Given the description of an element on the screen output the (x, y) to click on. 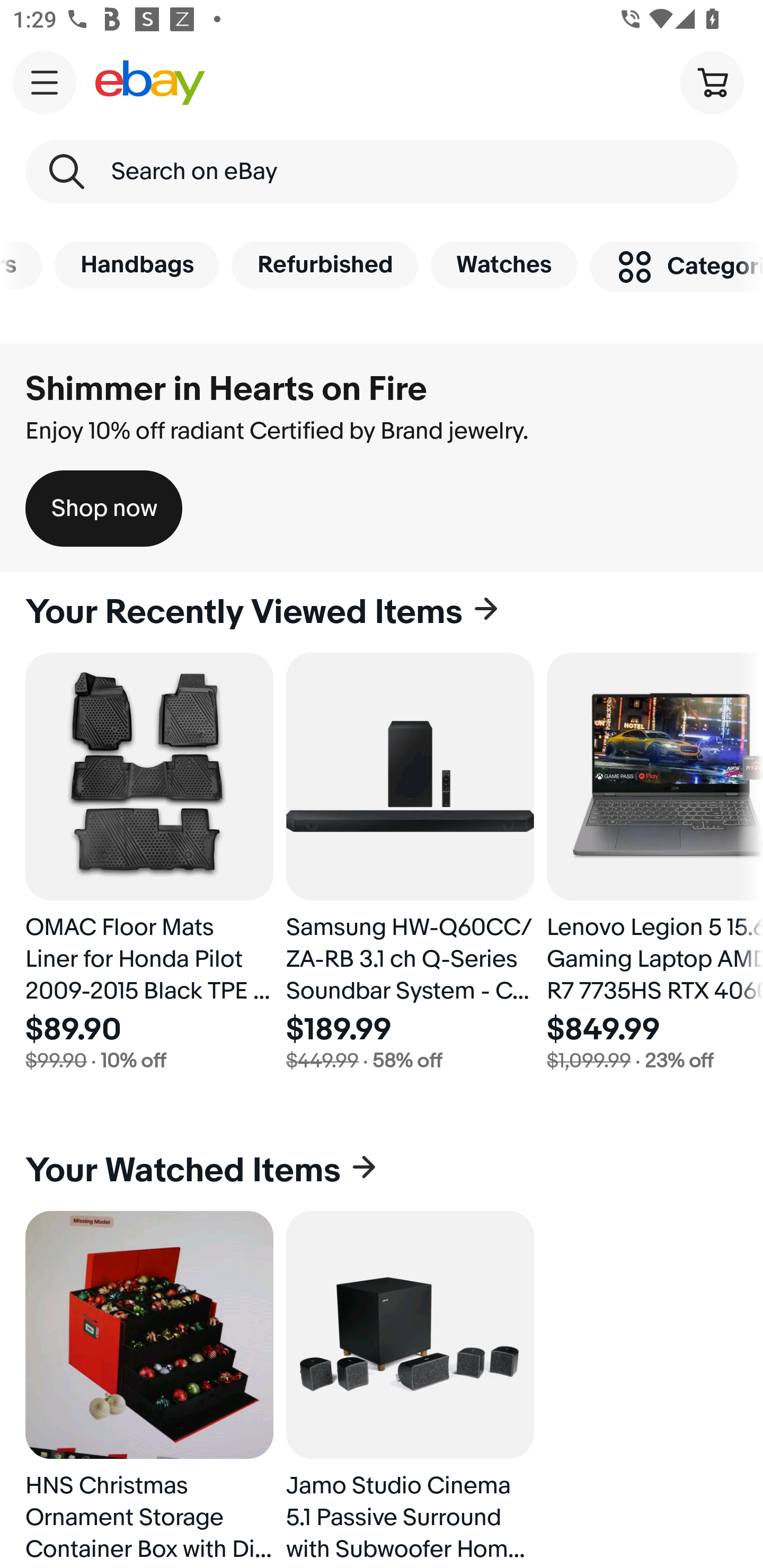
Main navigation, open (44, 82)
Cart button shopping cart (711, 81)
Search on eBay Search Keyword Search on eBay (381, 171)
Handbags (136, 264)
Refurbished (324, 264)
Watches (504, 264)
Categories (676, 266)
Shimmer in Hearts on Fire (226, 389)
Shop now (103, 508)
Your Recently Viewed Items   (381, 612)
Your Watched Items   (381, 1170)
